Given the description of an element on the screen output the (x, y) to click on. 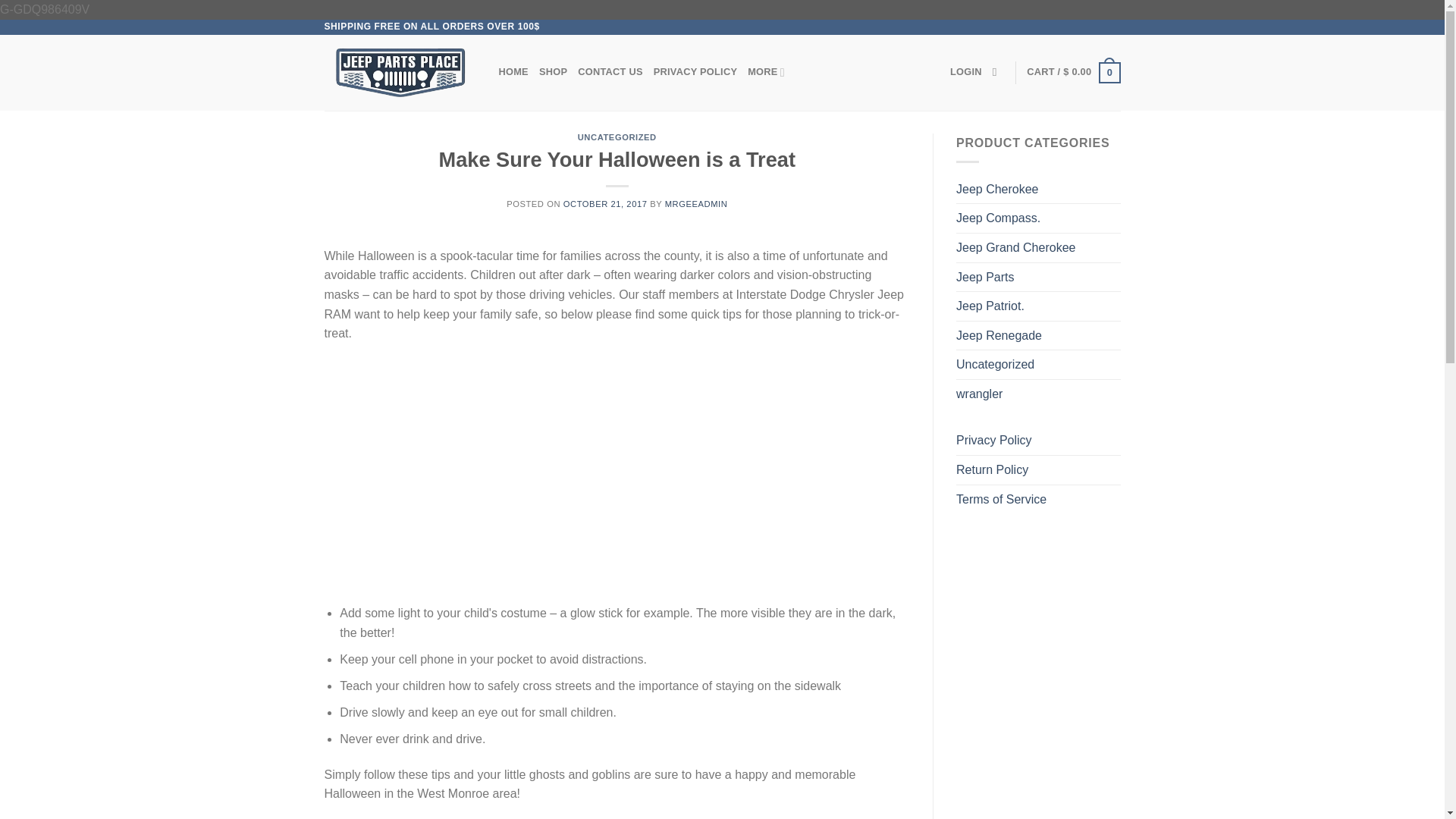
Jeep Parts Place - where you find all things Jeep (400, 72)
MORE (766, 71)
OCTOBER 21, 2017 (605, 203)
SHOP (552, 71)
Jeep Cherokee (1038, 189)
PRIVACY POLICY (694, 71)
HOME (513, 71)
Jeep Renegade (1038, 335)
LOGIN (965, 71)
CONTACT US (610, 71)
